Given the description of an element on the screen output the (x, y) to click on. 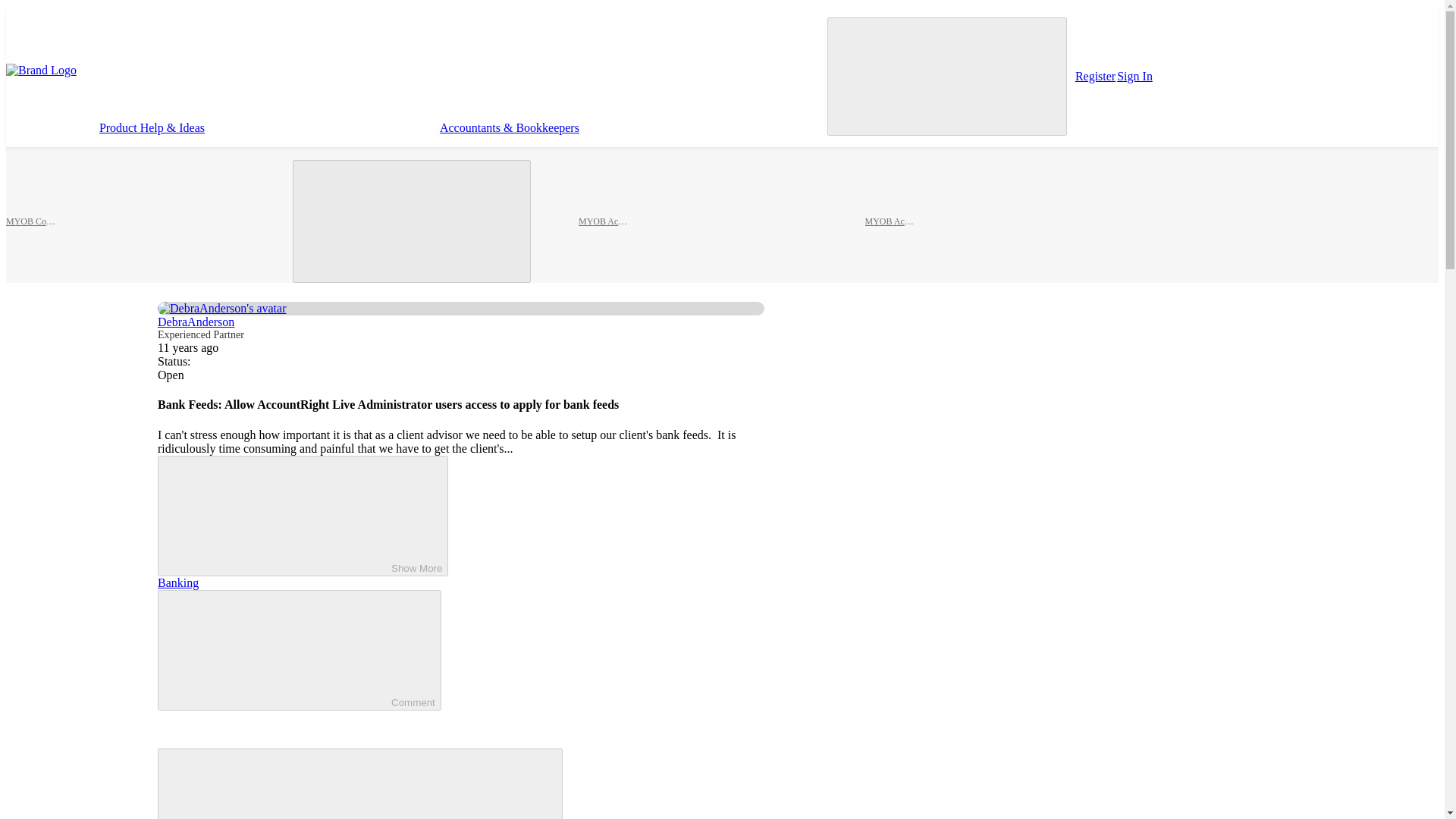
DebraAnderson (195, 321)
Banking (177, 582)
MYOB AccountRight ideas exchange (889, 220)
MYOB Community (31, 220)
Comment (277, 648)
MYOB AccountRight (604, 220)
November 24, 2013 at 11:23 PM (187, 347)
More (940, 127)
Search (947, 76)
Skip to content (52, 98)
Register (1095, 76)
Sign In (1134, 76)
Show More (302, 515)
CommentComment (299, 649)
